Given the description of an element on the screen output the (x, y) to click on. 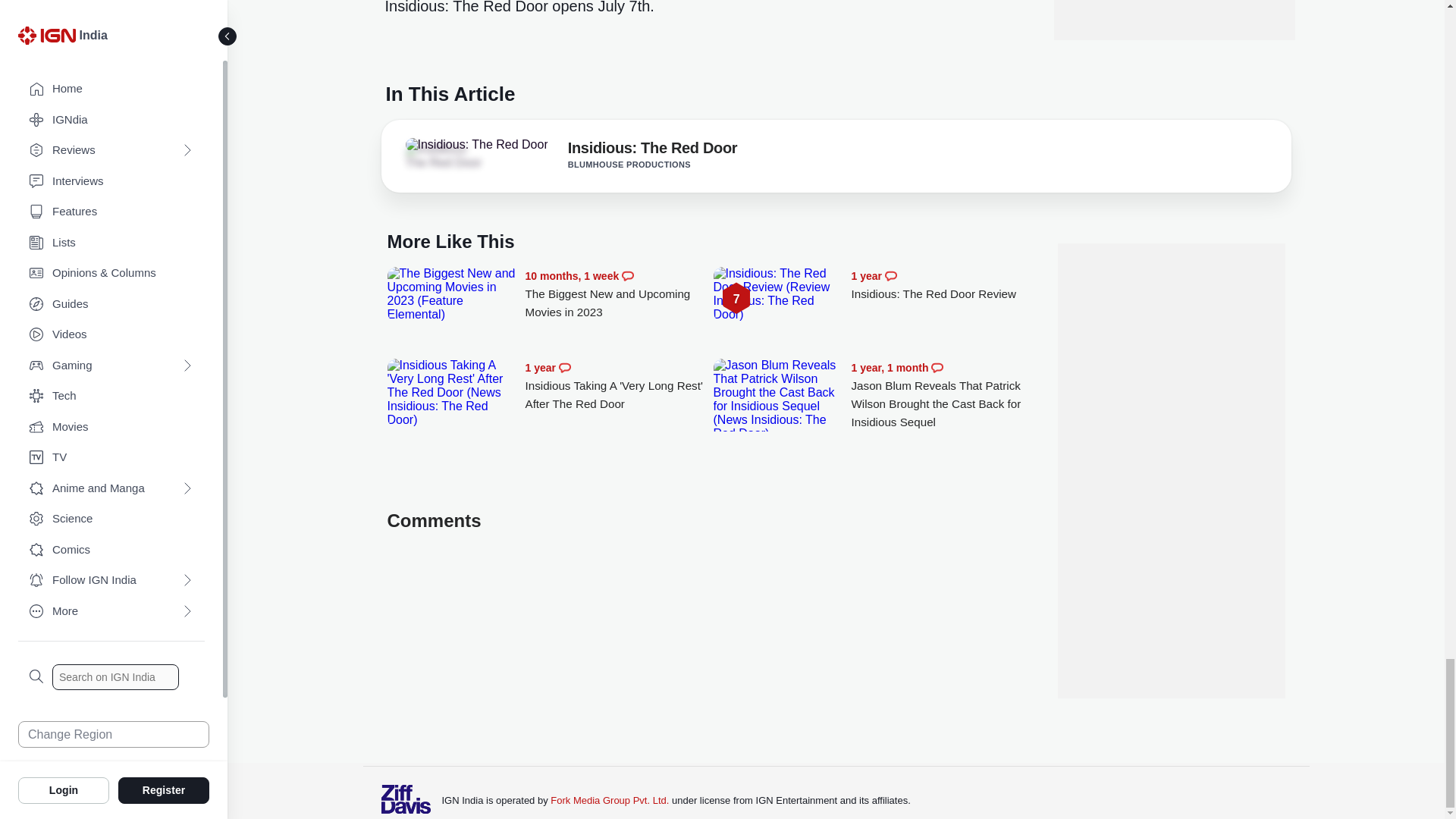
Insidious Taking A 'Very Long Rest' After The Red Door (618, 385)
The Biggest New and Upcoming Movies in 2023 (451, 293)
Insidious: The Red Door (448, 155)
Insidious: The Red Door Review (778, 293)
Insidious Taking A 'Very Long Rest' After The Red Door (451, 391)
Insidious: The Red Door (475, 144)
Insidious: The Red Door (652, 150)
Insidious: The Red Door Review (944, 284)
The Biggest New and Upcoming Movies in 2023 (618, 294)
